Given the description of an element on the screen output the (x, y) to click on. 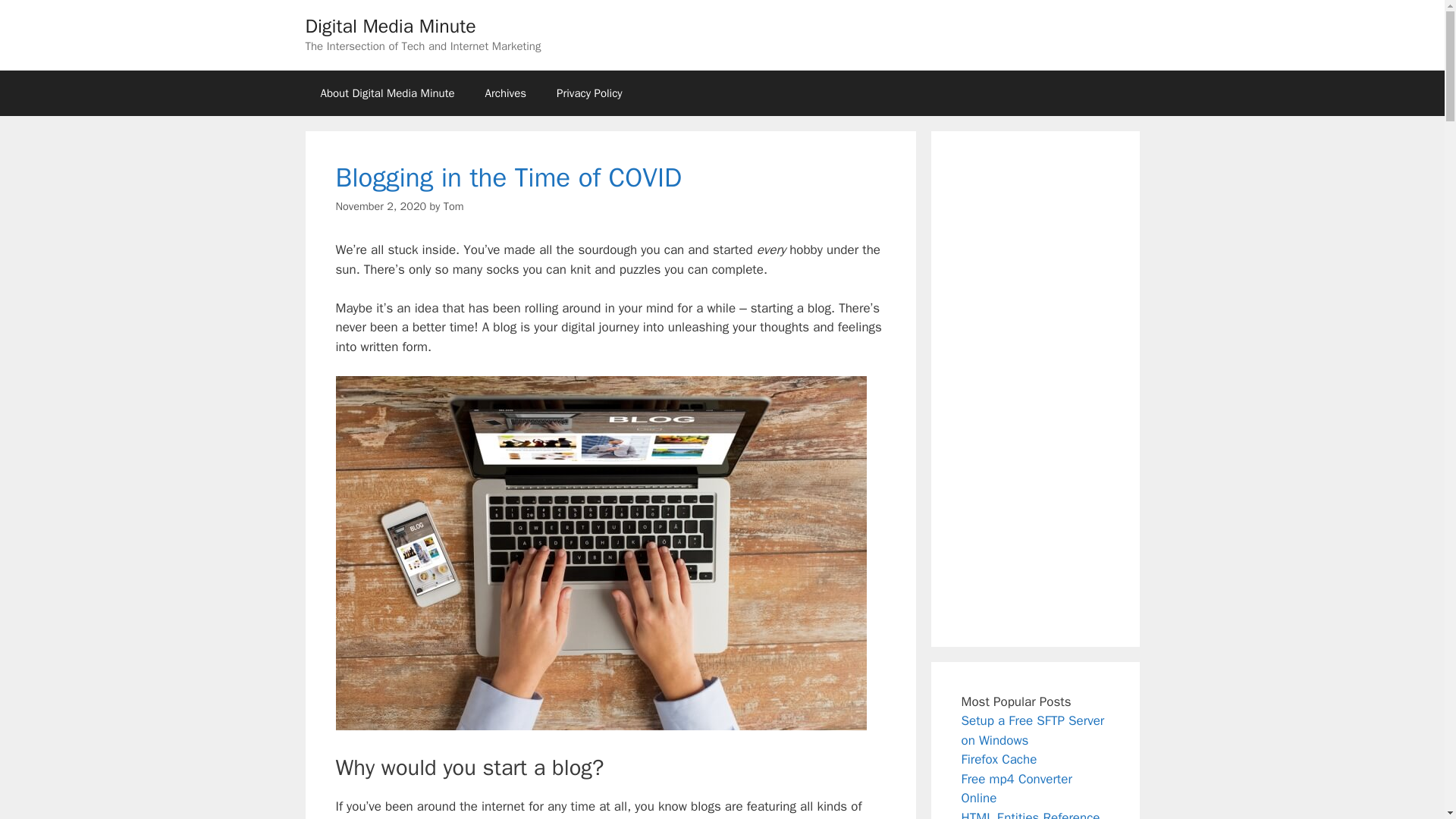
Blogging in the Time of COVID (507, 177)
Setup a Free SFTP Server on Windows (1032, 730)
Digital Media Minute (390, 25)
Archives (505, 92)
View all posts by Tom (454, 205)
HTML Entities Reference (1030, 814)
Firefox Cache (998, 759)
Tom (454, 205)
Free mp4 Converter Online (1015, 787)
About Digital Media Minute (386, 92)
